Given the description of an element on the screen output the (x, y) to click on. 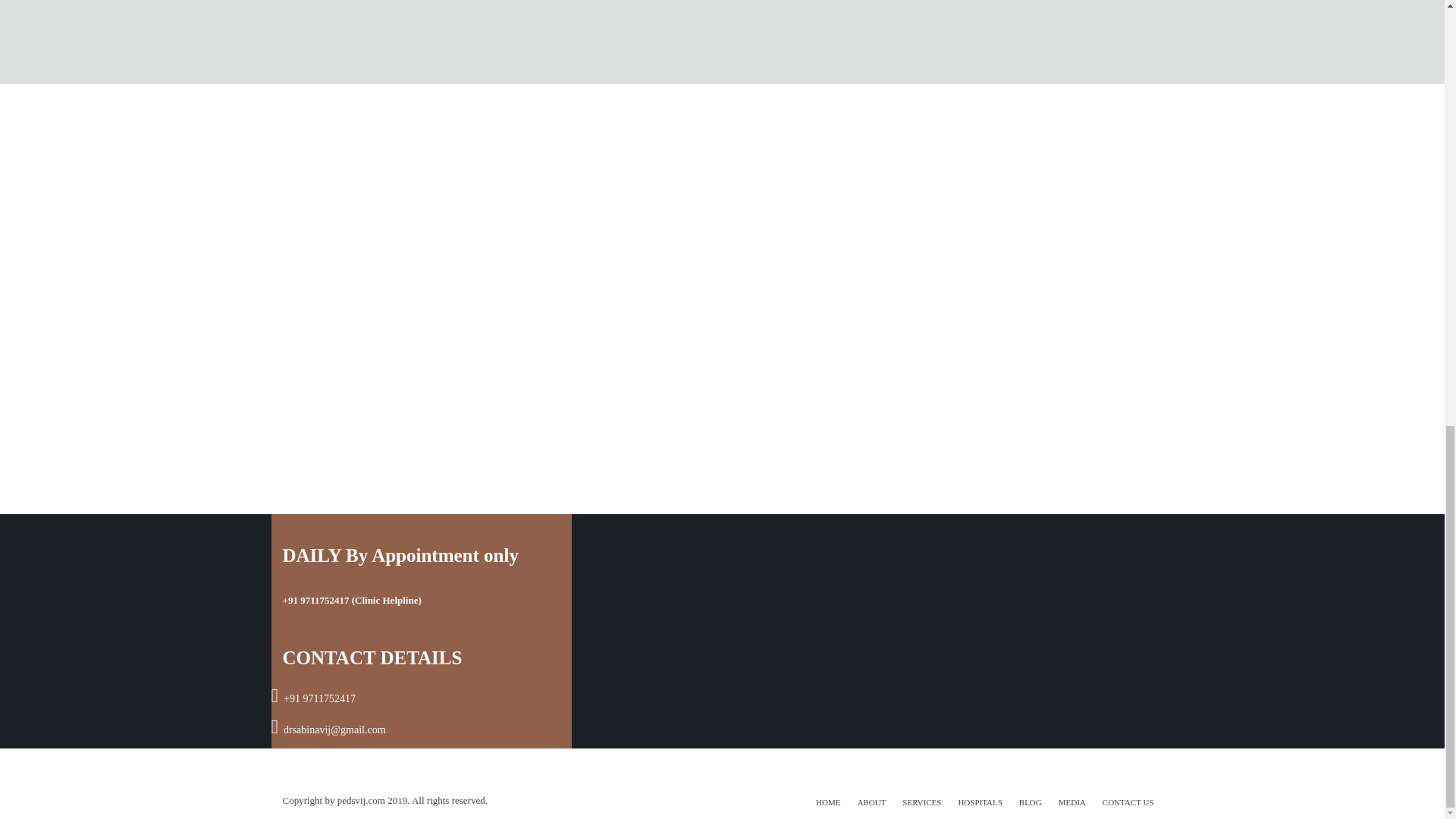
HOSPITALS (979, 801)
ABOUT (871, 801)
SERVICES (921, 801)
HOME (827, 801)
